Given the description of an element on the screen output the (x, y) to click on. 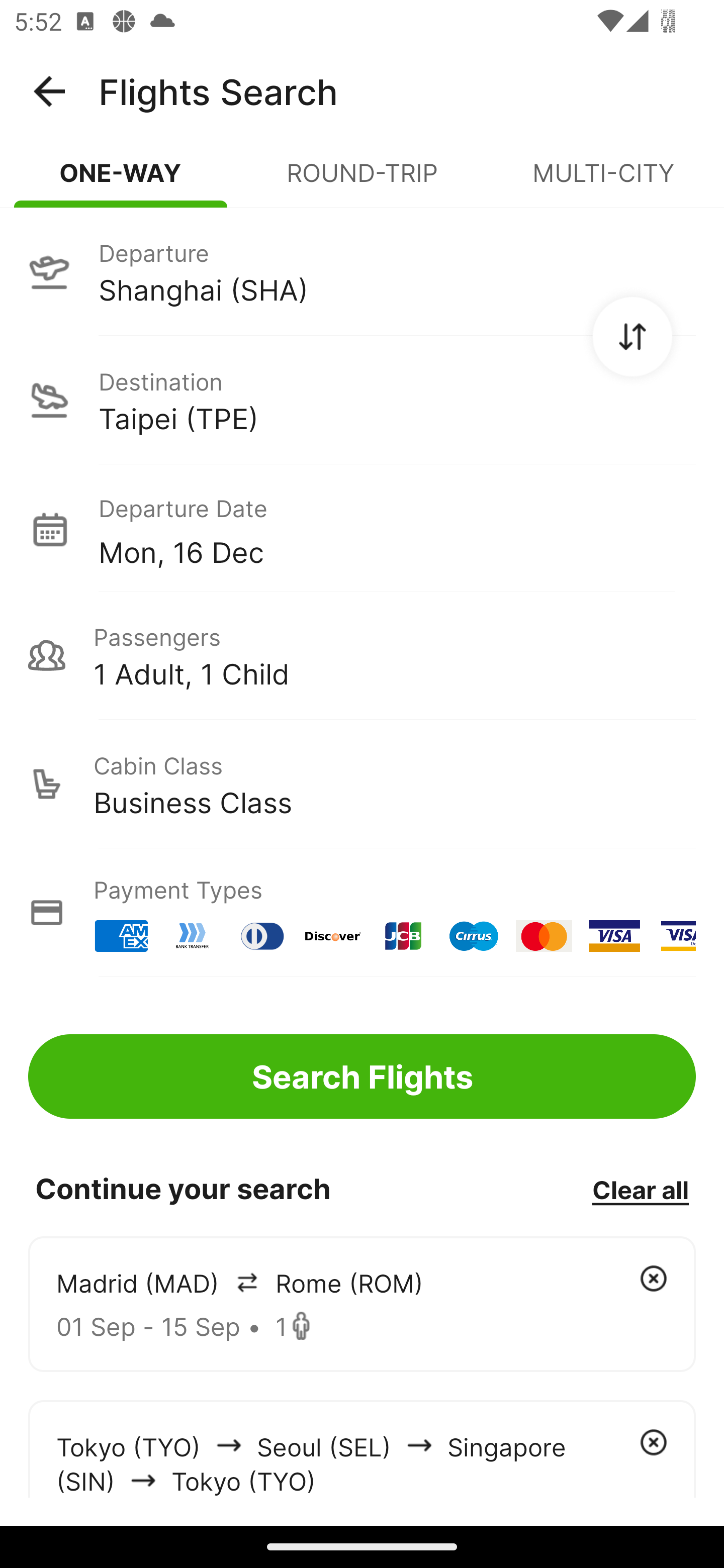
ONE-WAY (120, 180)
ROUND-TRIP (361, 180)
MULTI-CITY (603, 180)
Departure Shanghai (SHA) (362, 270)
Destination Taipei (TPE) (362, 400)
Departure Date Mon, 16 Dec (396, 528)
Passengers 1 Adult, 1 Child (362, 655)
Cabin Class Business Class (362, 783)
Payment Types (362, 912)
Search Flights (361, 1075)
Clear all (640, 1189)
